Given the description of an element on the screen output the (x, y) to click on. 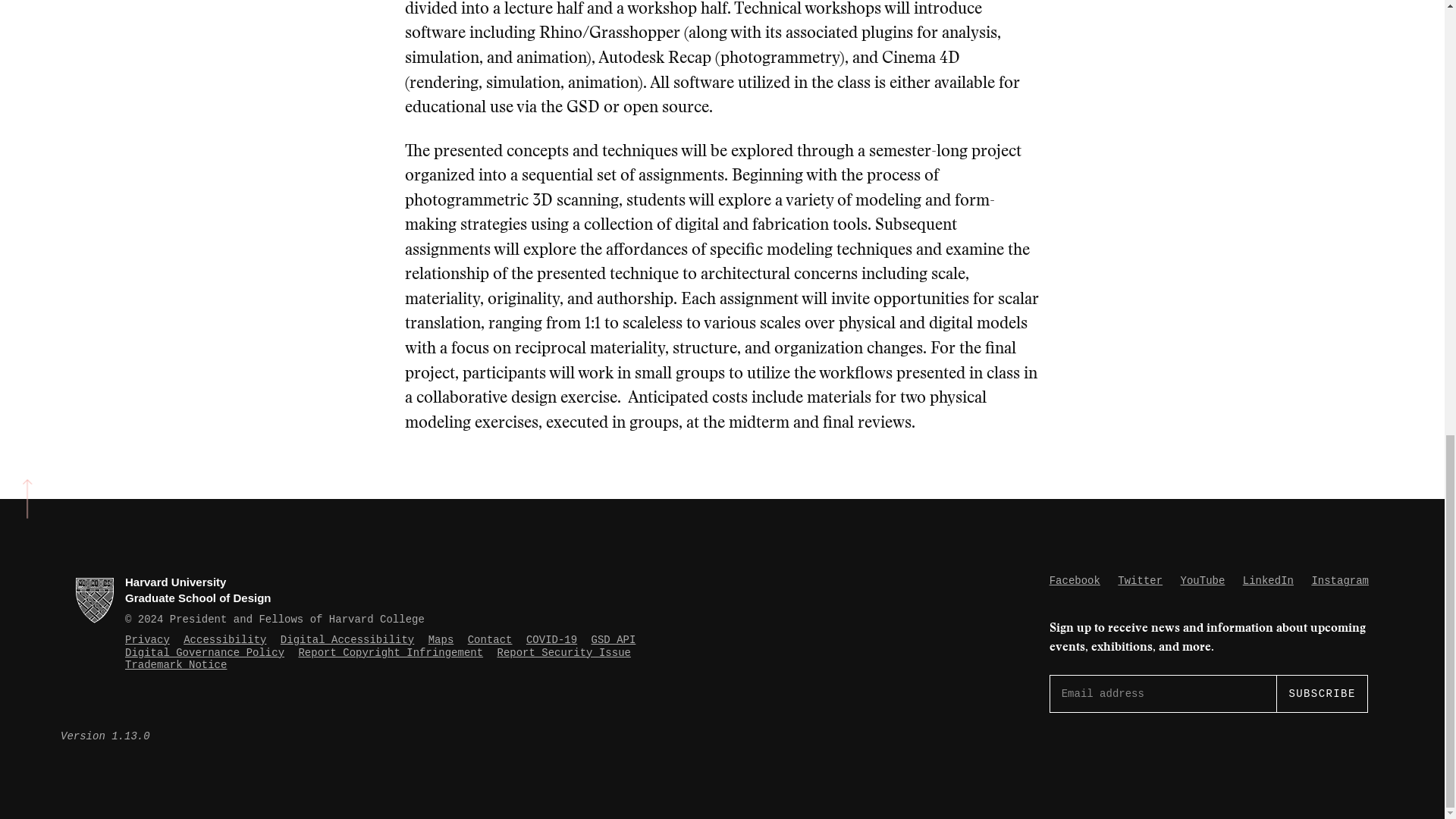
Subscribe (1321, 693)
